Given the description of an element on the screen output the (x, y) to click on. 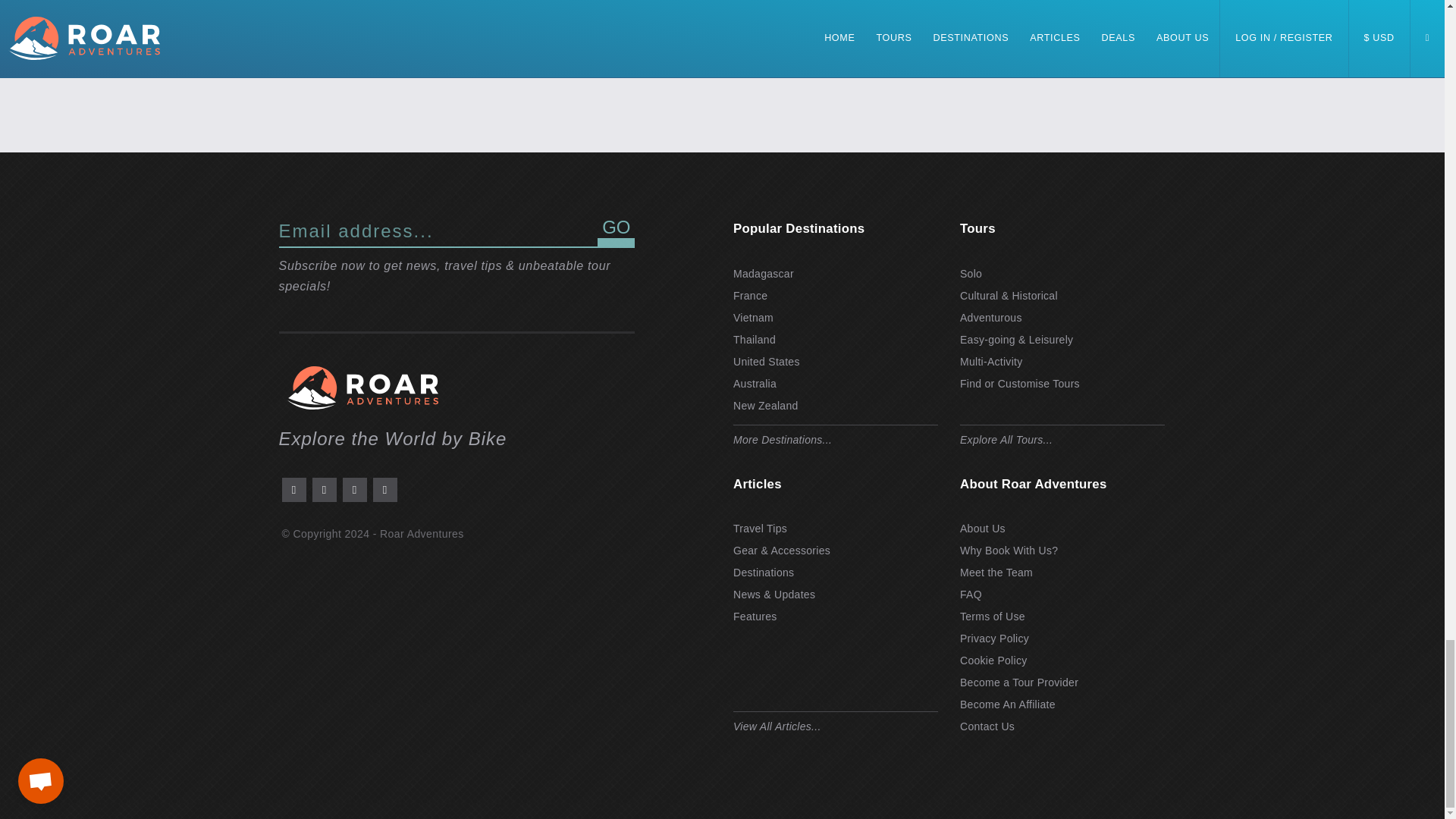
GO (615, 231)
